Given the description of an element on the screen output the (x, y) to click on. 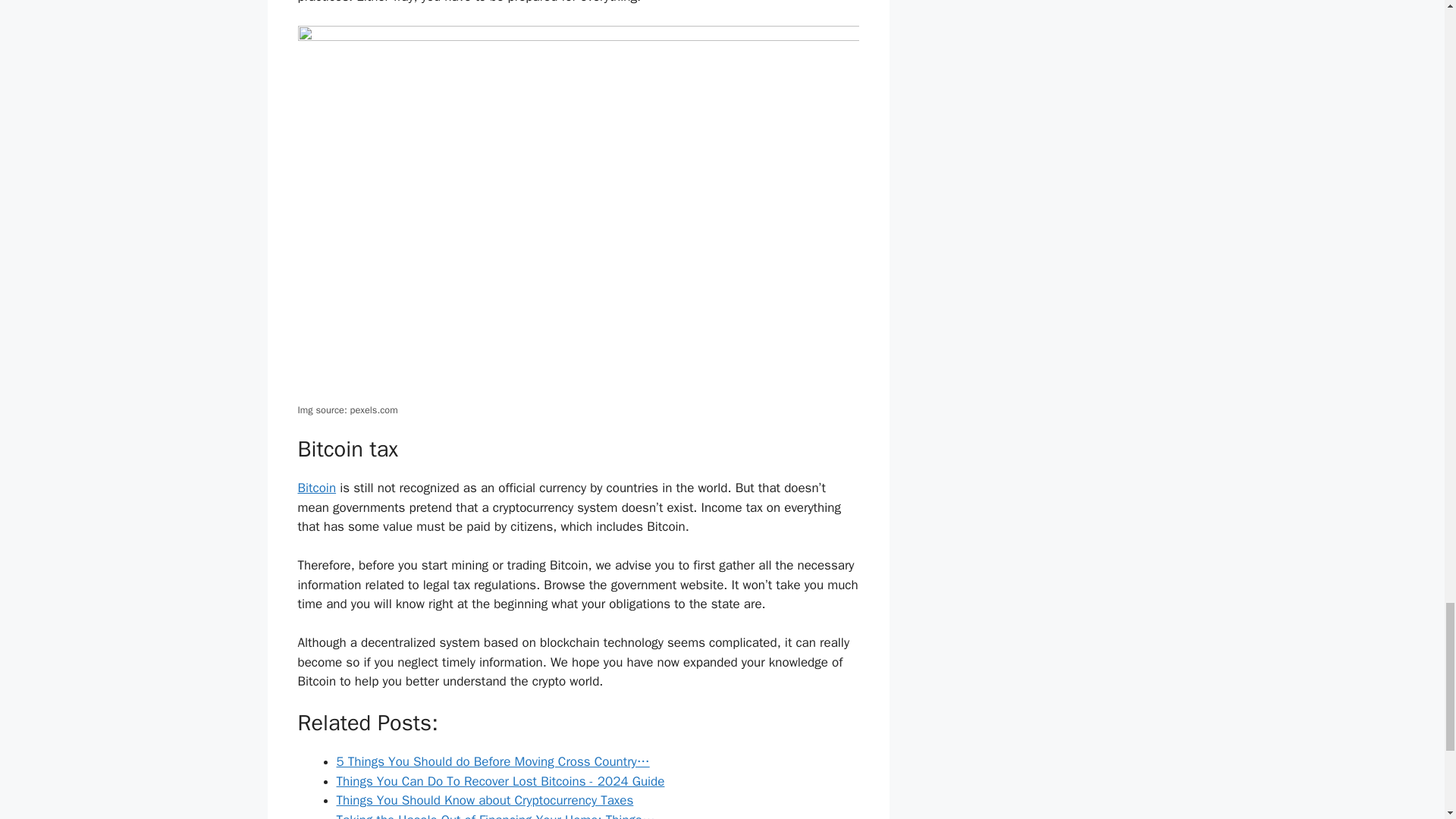
Things You Should Know about Cryptocurrency Taxes (484, 800)
Bitcoin (316, 487)
Things You Can Do To Recover Lost Bitcoins - 2024 Guide (500, 781)
